Given the description of an element on the screen output the (x, y) to click on. 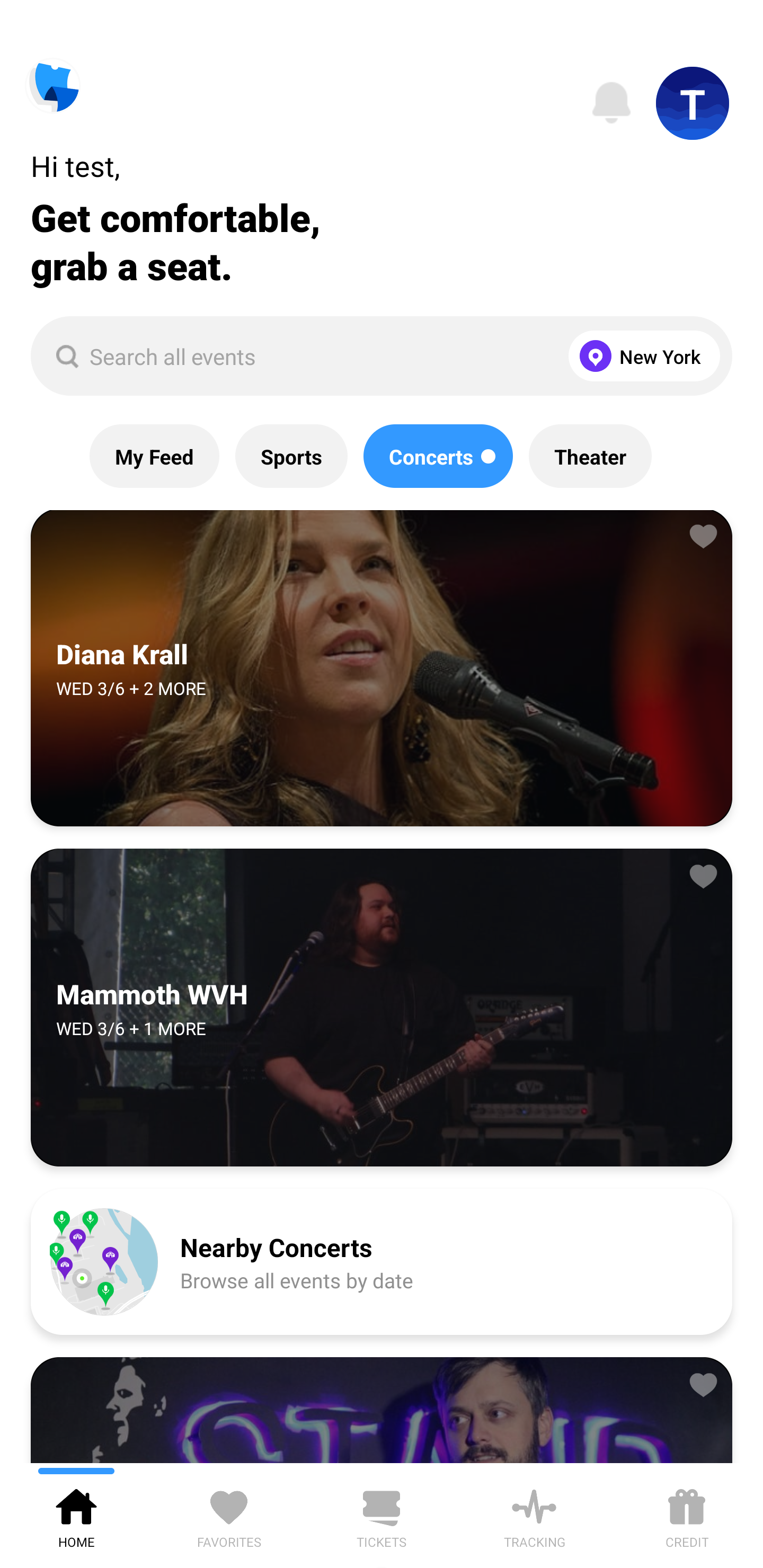
T (692, 103)
New York (640, 355)
My Feed (154, 455)
Sports (291, 455)
Concerts (437, 455)
Theater (589, 455)
HOME (76, 1515)
FAVORITES (228, 1515)
TICKETS (381, 1515)
TRACKING (533, 1515)
CREDIT (686, 1515)
